Given the description of an element on the screen output the (x, y) to click on. 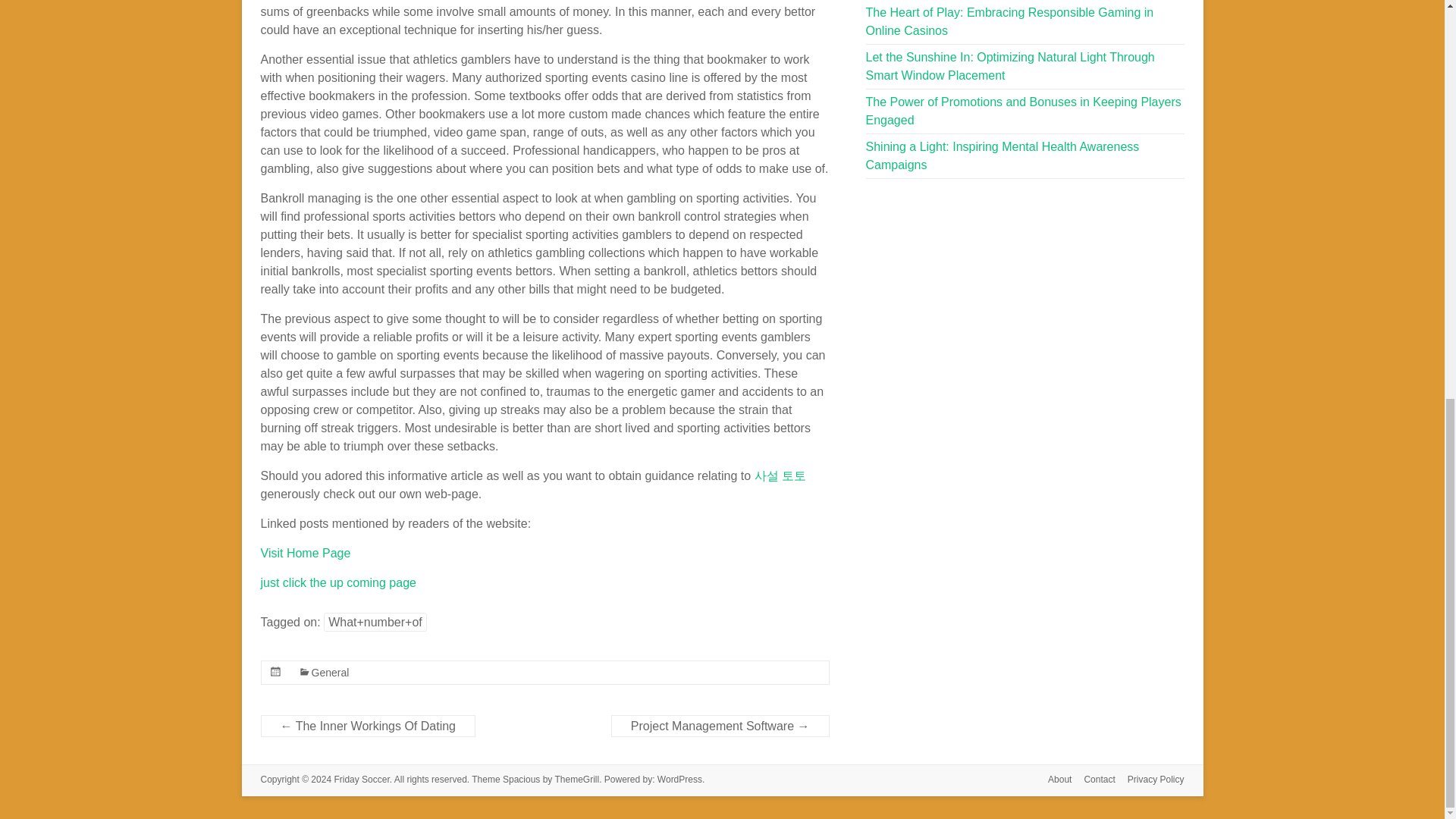
WordPress (679, 778)
Shining a Light: Inspiring Mental Health Awareness Campaigns (1003, 155)
General (330, 672)
Visit Home Page (305, 553)
Friday Soccer (360, 778)
WordPress (679, 778)
Friday Soccer (360, 778)
